Given the description of an element on the screen output the (x, y) to click on. 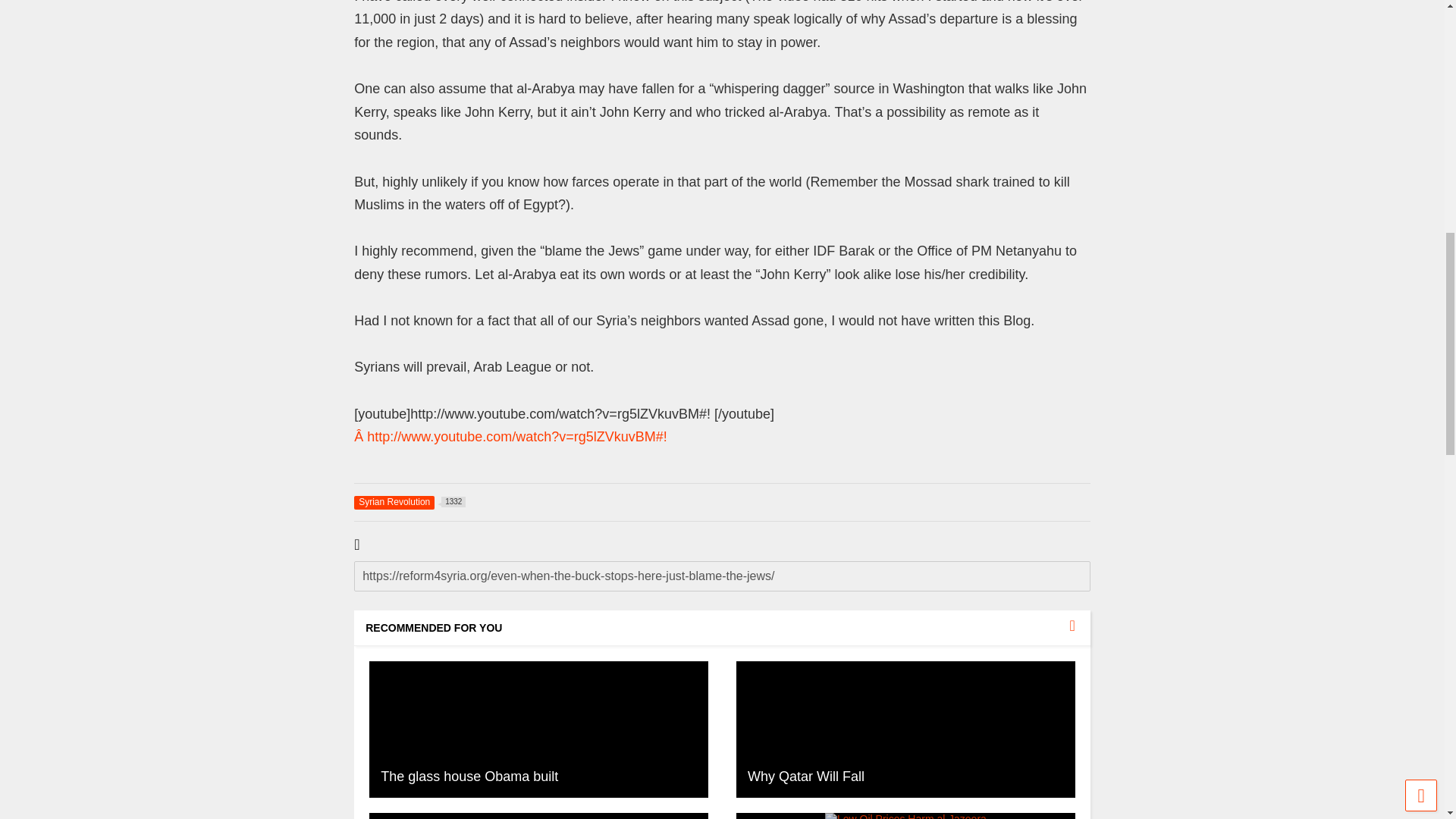
Click to read (538, 728)
